Given the description of an element on the screen output the (x, y) to click on. 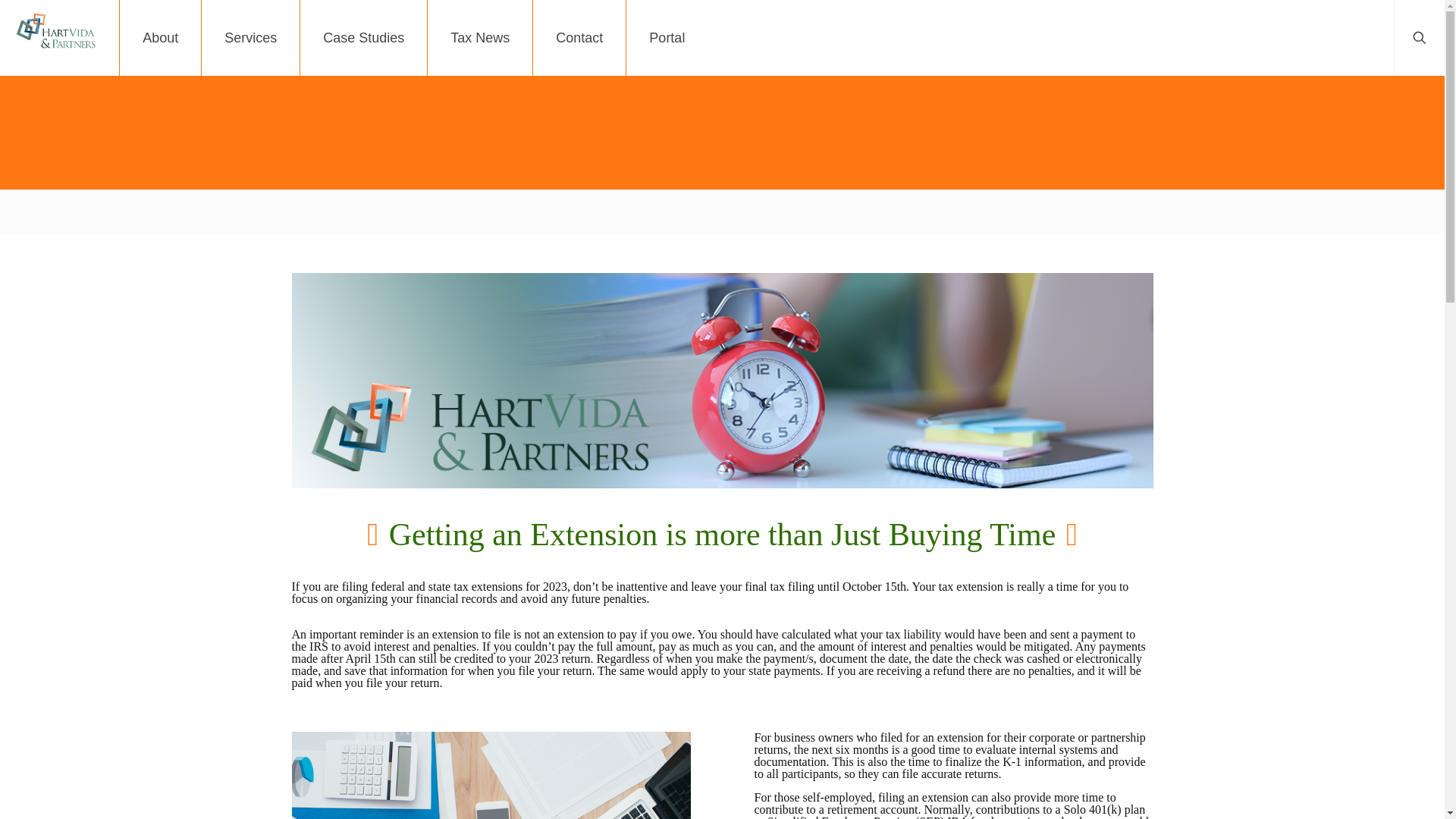
Services (250, 38)
Case Studies (363, 38)
Tax News (480, 38)
Contact (579, 38)
Portal (666, 38)
About (160, 38)
